Given the description of an element on the screen output the (x, y) to click on. 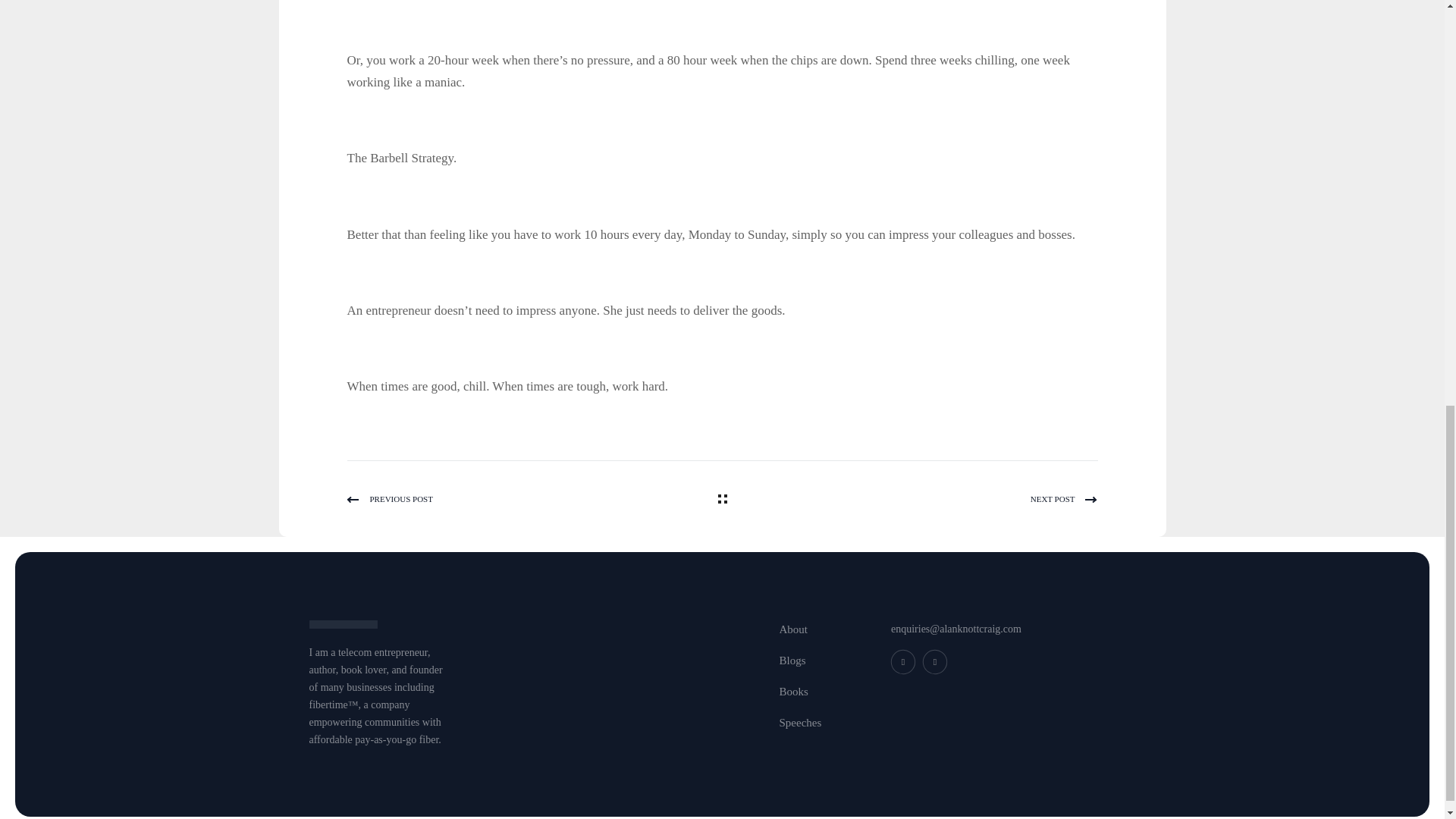
NEXT POST (913, 498)
Speeches (800, 722)
About (793, 629)
Books (793, 691)
Blogs (792, 660)
PREVIOUS POST (530, 498)
